Given the description of an element on the screen output the (x, y) to click on. 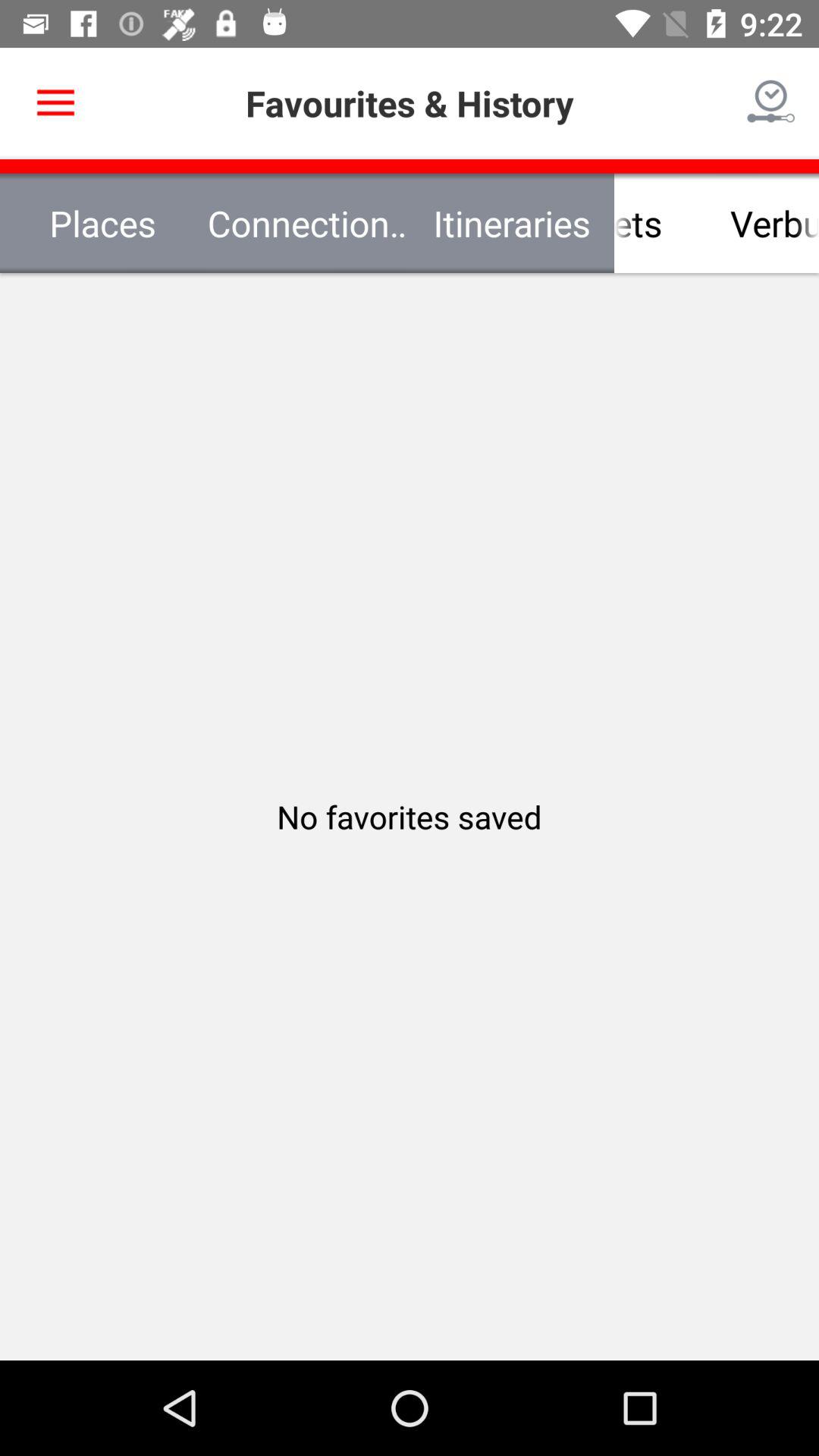
jump to the places icon (102, 223)
